Given the description of an element on the screen output the (x, y) to click on. 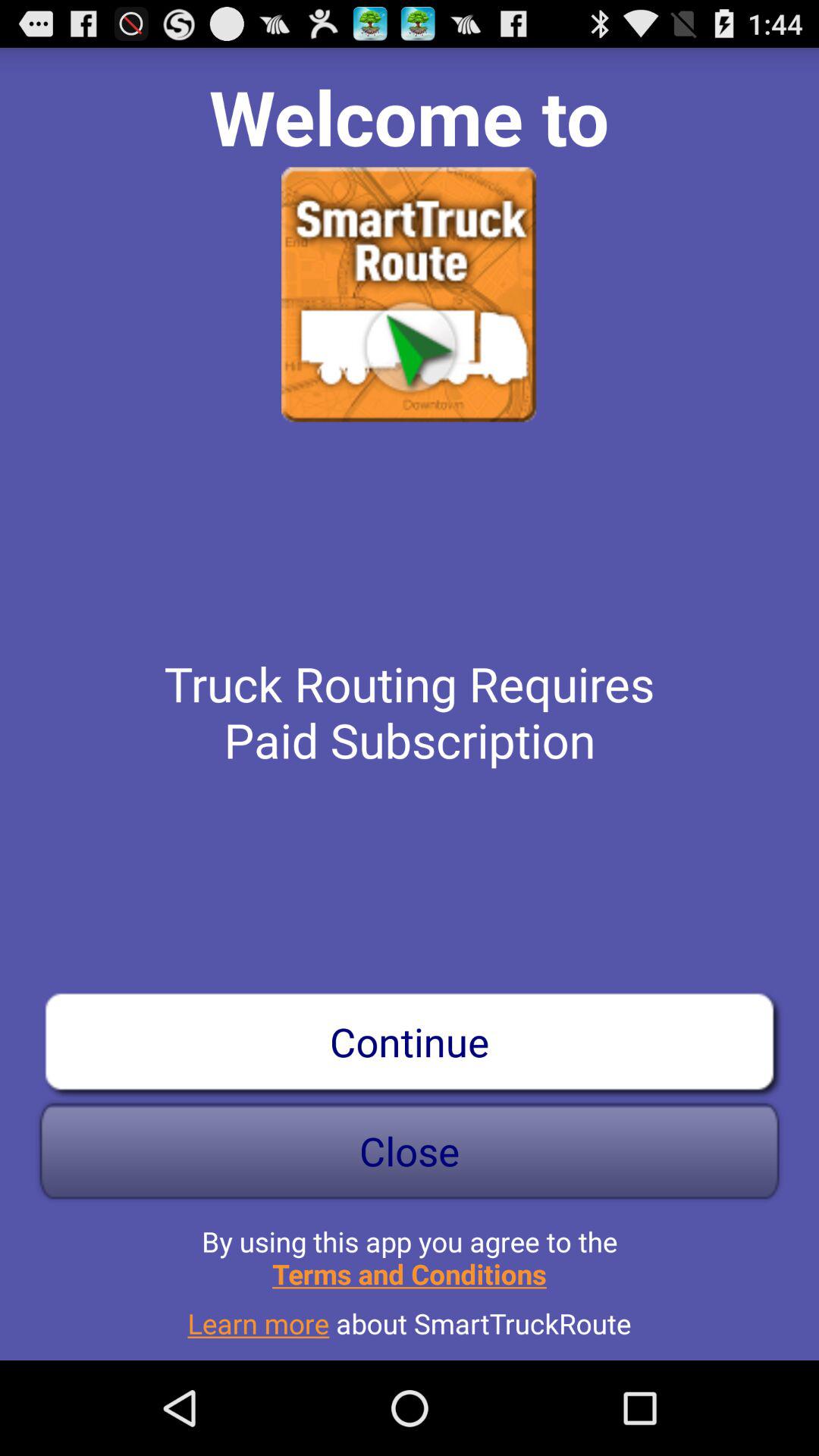
jump to learn more about icon (409, 1317)
